Given the description of an element on the screen output the (x, y) to click on. 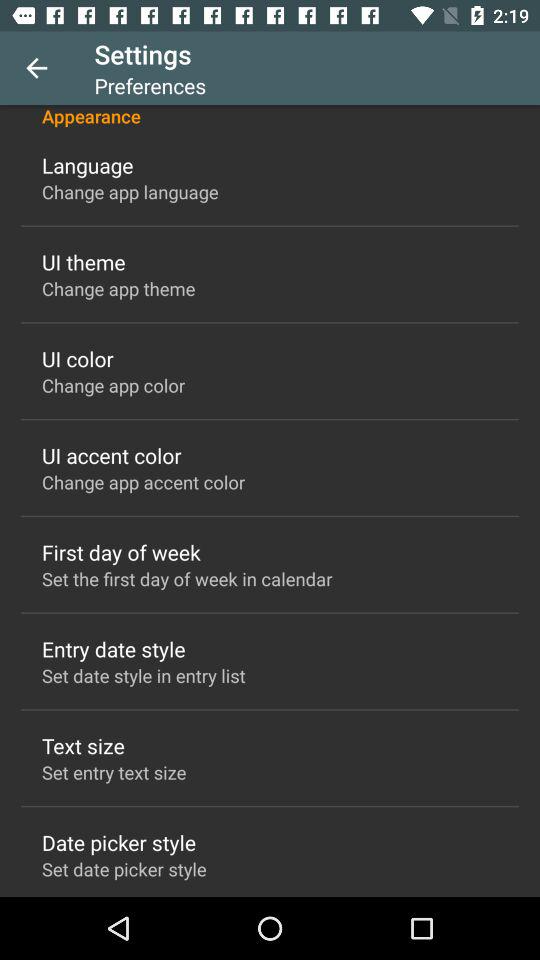
tap the app to the left of settings (36, 68)
